Given the description of an element on the screen output the (x, y) to click on. 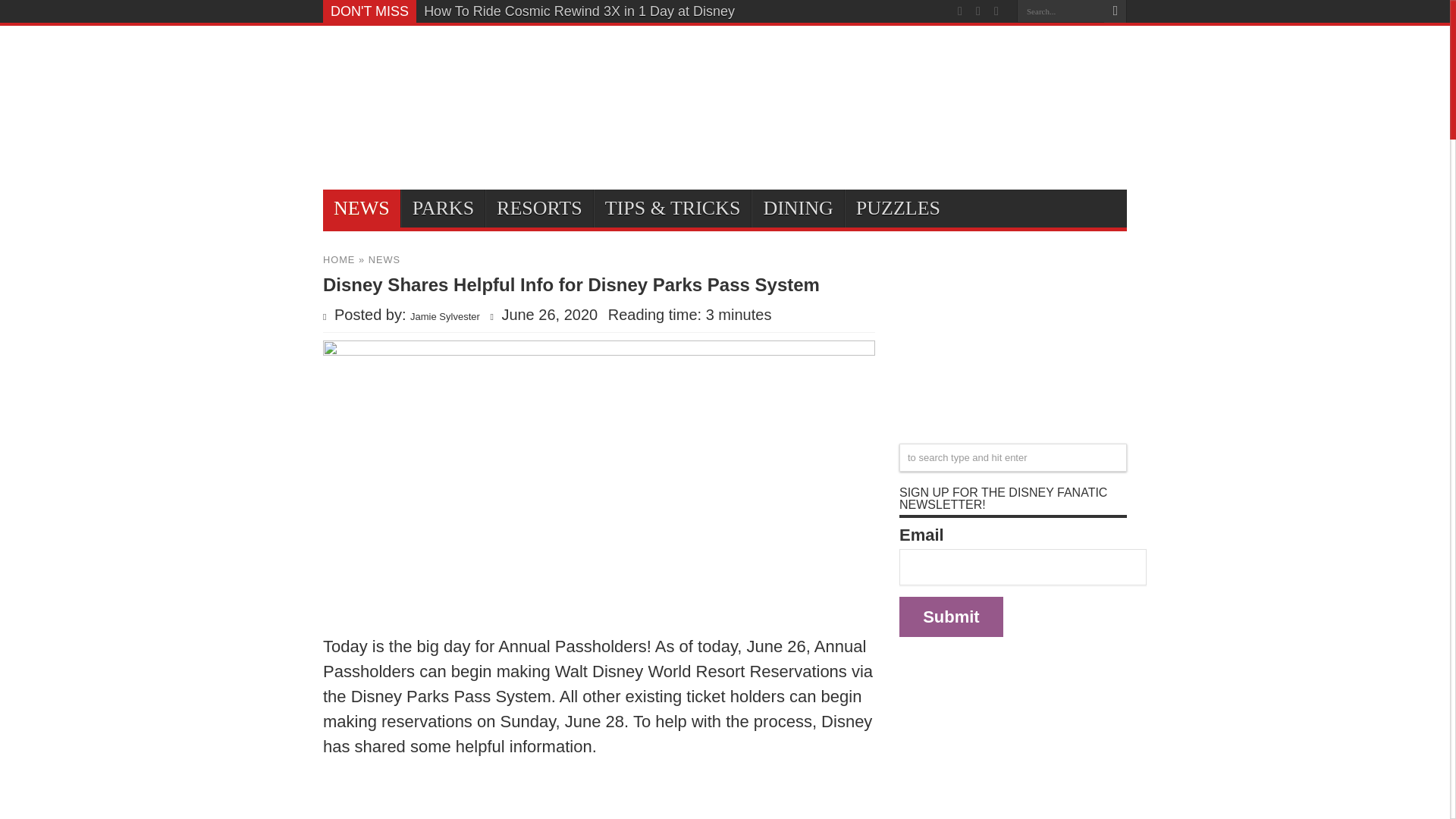
to search type and hit enter (1012, 457)
PARKS (442, 208)
NEWS (361, 208)
Search (1114, 11)
NEWS (384, 259)
How To Ride Cosmic Rewind 3X in 1 Day at Disney (579, 11)
HOME (339, 259)
Jamie Sylvester (445, 316)
Search... (1059, 11)
RESORTS (538, 208)
